Given the description of an element on the screen output the (x, y) to click on. 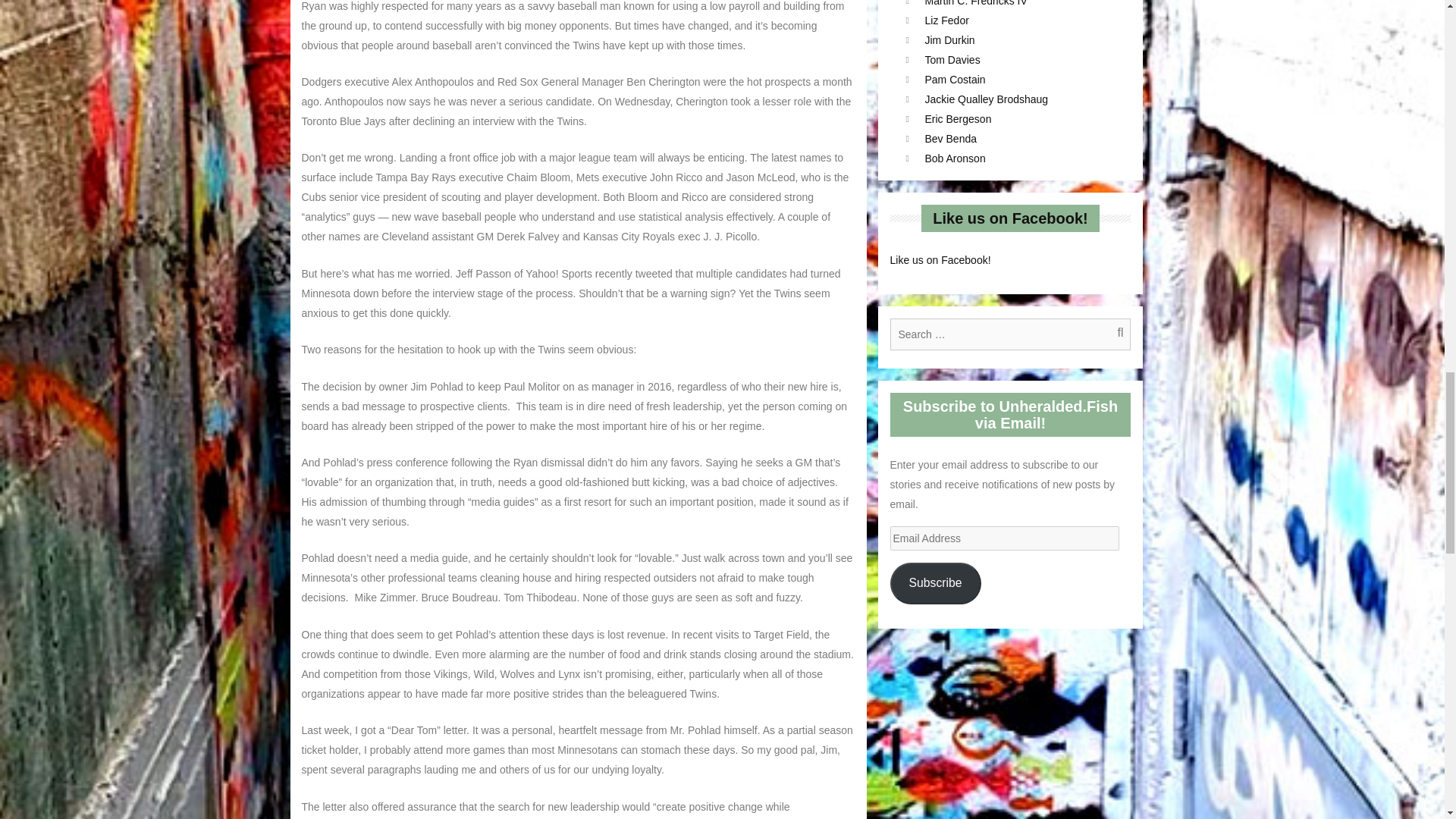
Search (1112, 333)
Search (1112, 333)
